Given the description of an element on the screen output the (x, y) to click on. 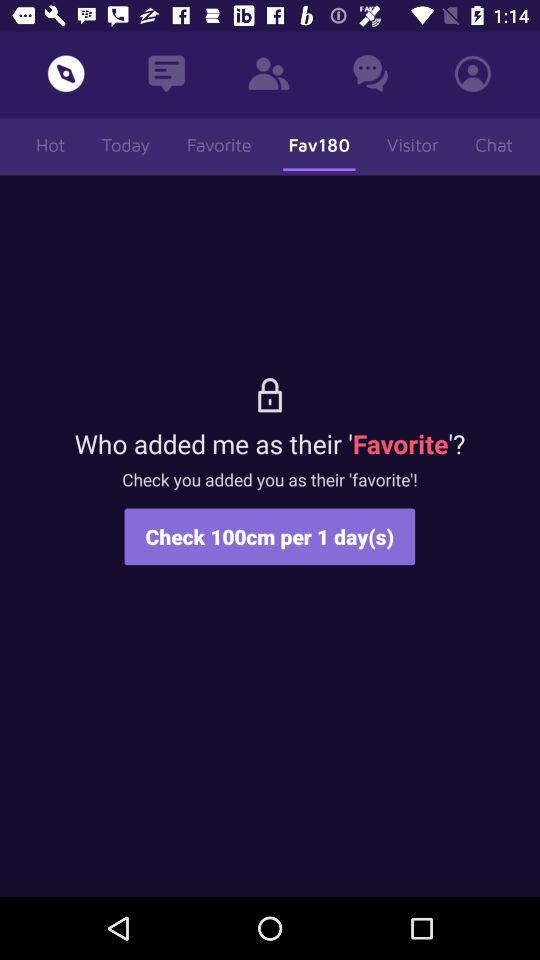
select check 100cm per item (269, 536)
